Given the description of an element on the screen output the (x, y) to click on. 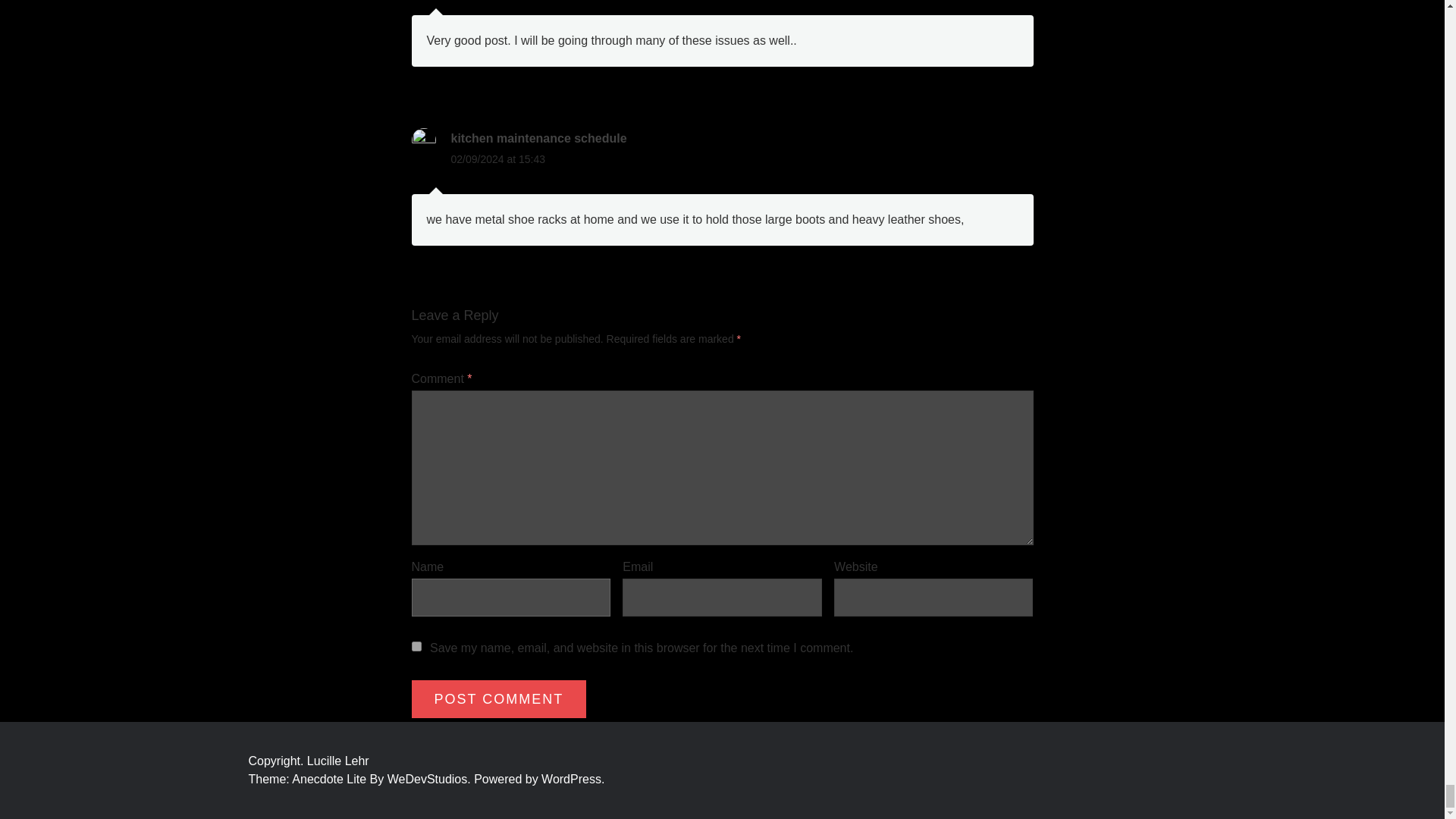
WordPress (572, 779)
WeDevStudios (430, 779)
yes (415, 646)
Post Comment (498, 699)
